Given the description of an element on the screen output the (x, y) to click on. 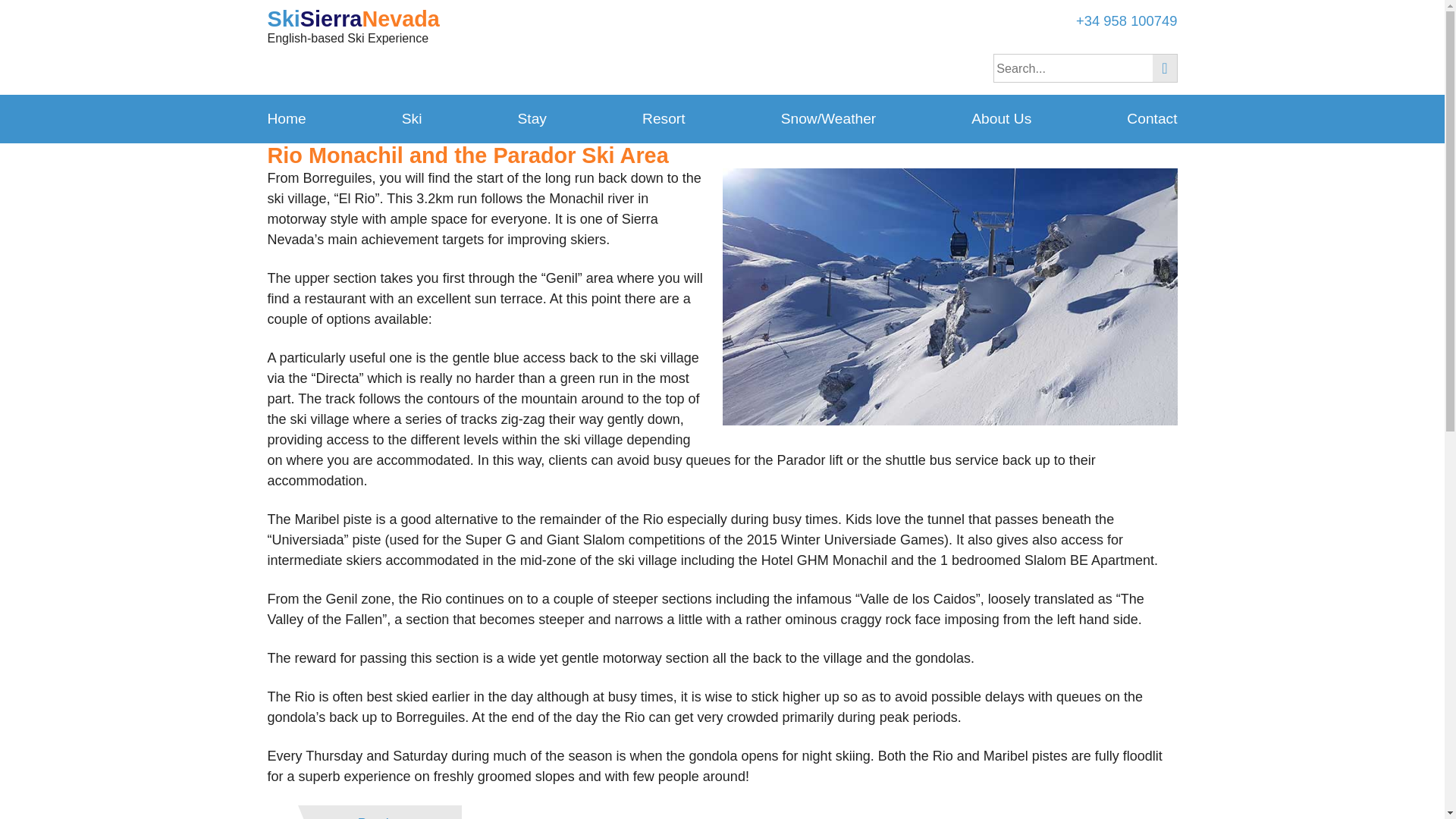
Ski (412, 118)
Instagram (774, 28)
About Us (1000, 118)
Previous (379, 812)
Contact (1148, 118)
Resort (663, 118)
Home (288, 118)
Stay (532, 118)
Facebook (744, 28)
